Given the description of an element on the screen output the (x, y) to click on. 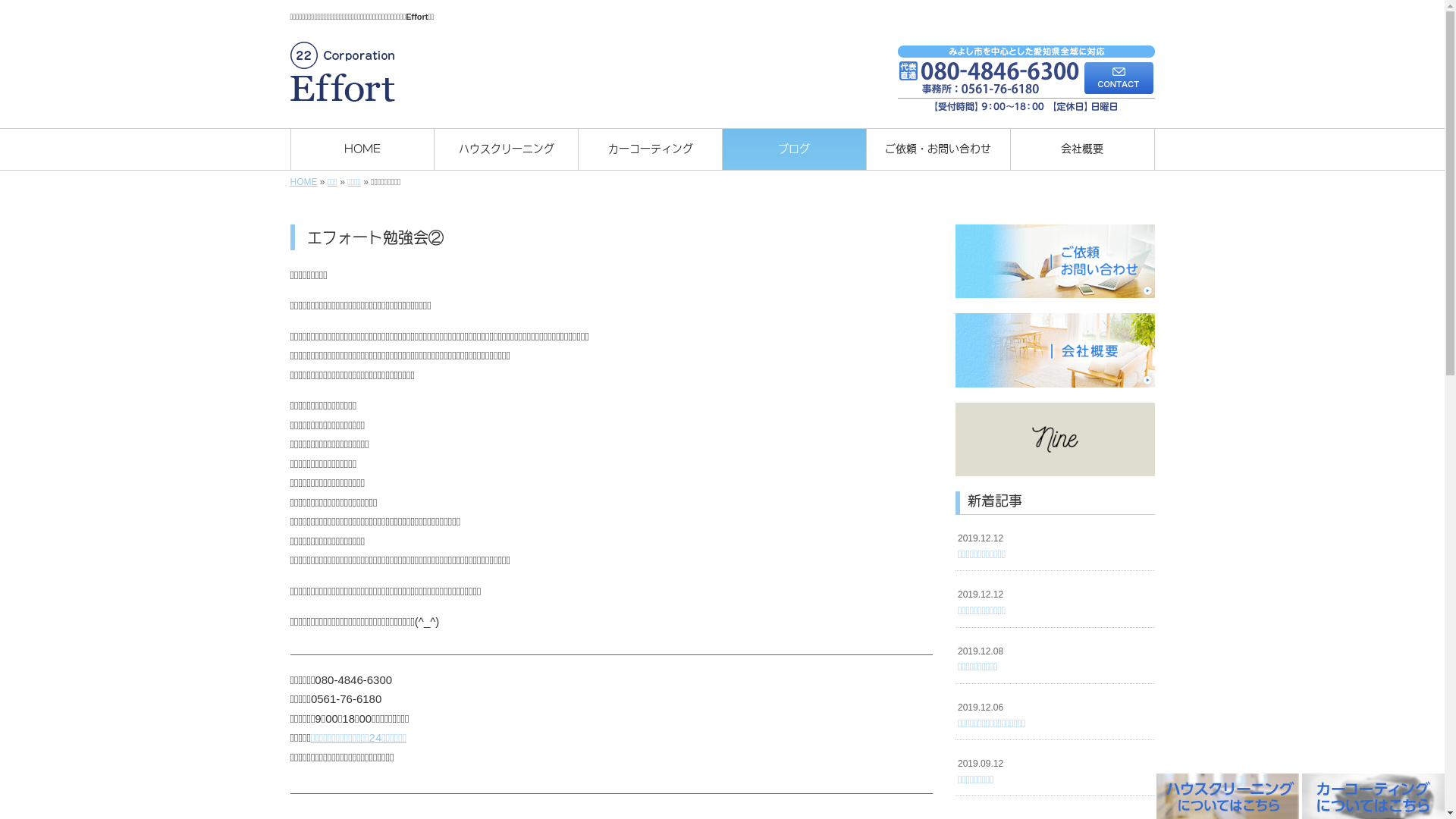
HOME Element type: text (302, 181)
HOME Element type: text (362, 148)
